Given the description of an element on the screen output the (x, y) to click on. 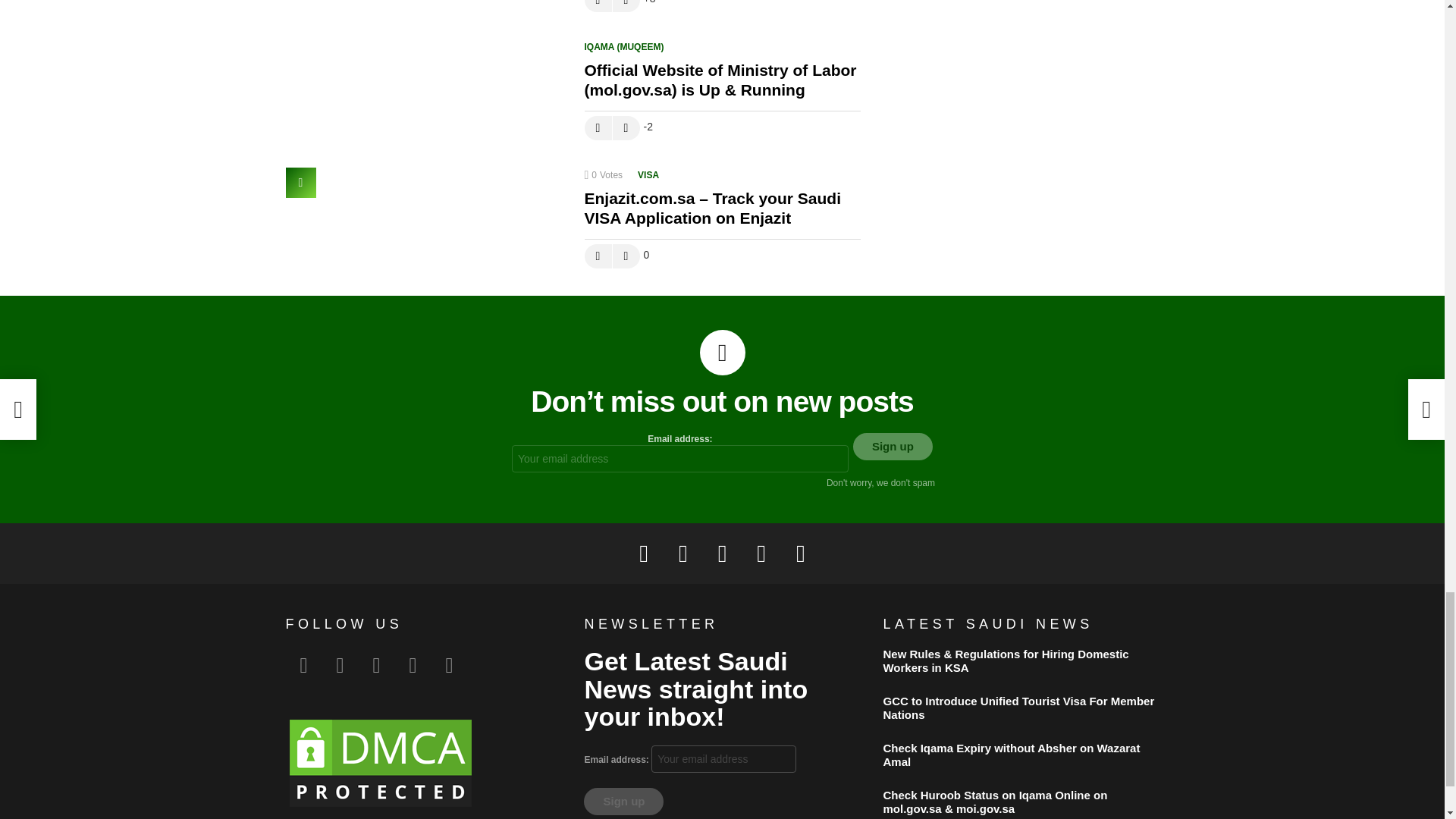
Sign up (623, 800)
Sign up (893, 446)
